Given the description of an element on the screen output the (x, y) to click on. 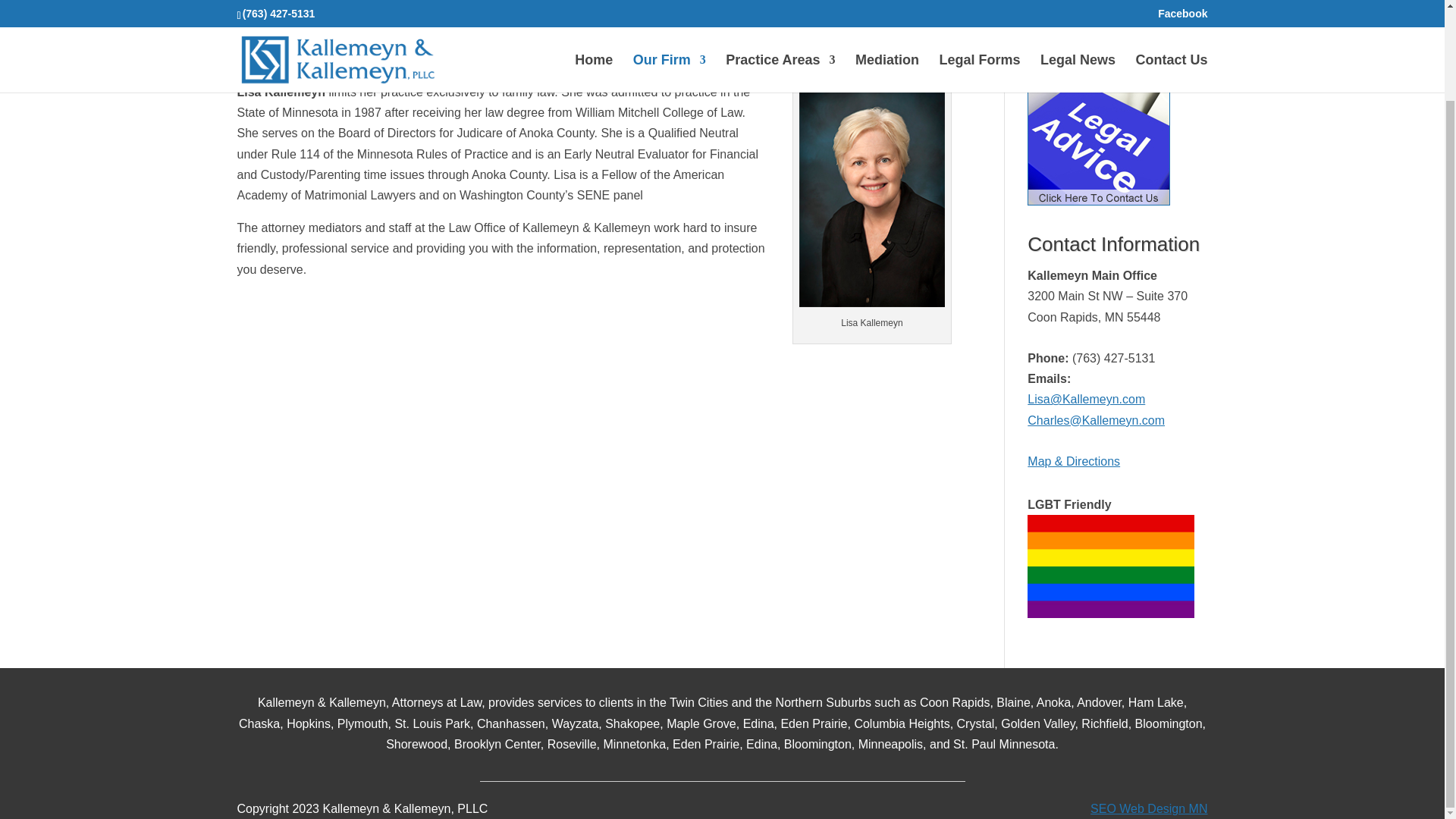
Einstein Search Engine Optimization (1148, 808)
